Given the description of an element on the screen output the (x, y) to click on. 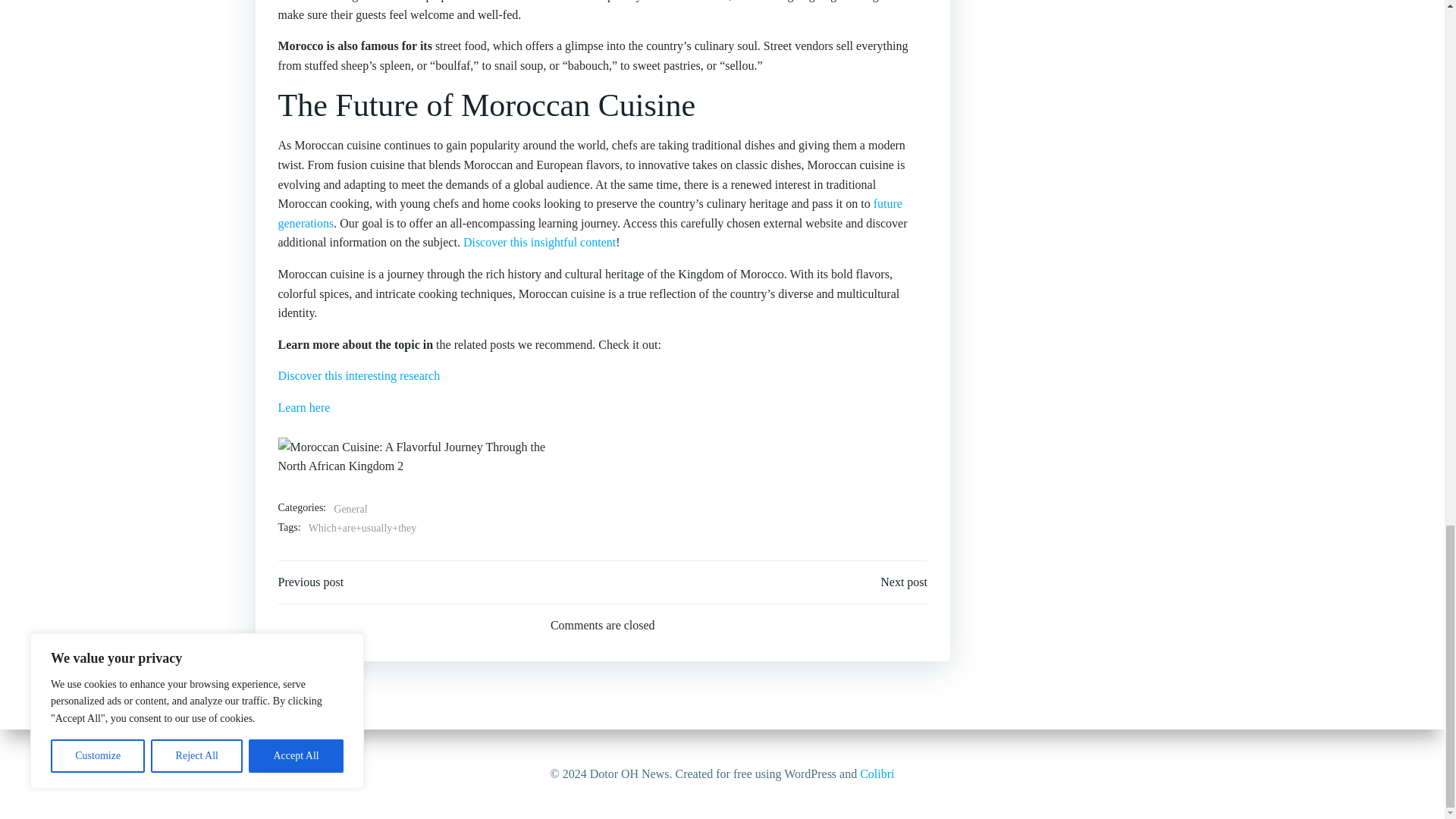
Discover this interesting research (358, 375)
Discover this insightful content (539, 241)
Previous post (310, 582)
future generations (589, 213)
Learn here (304, 407)
Next post (903, 582)
General (349, 509)
